Given the description of an element on the screen output the (x, y) to click on. 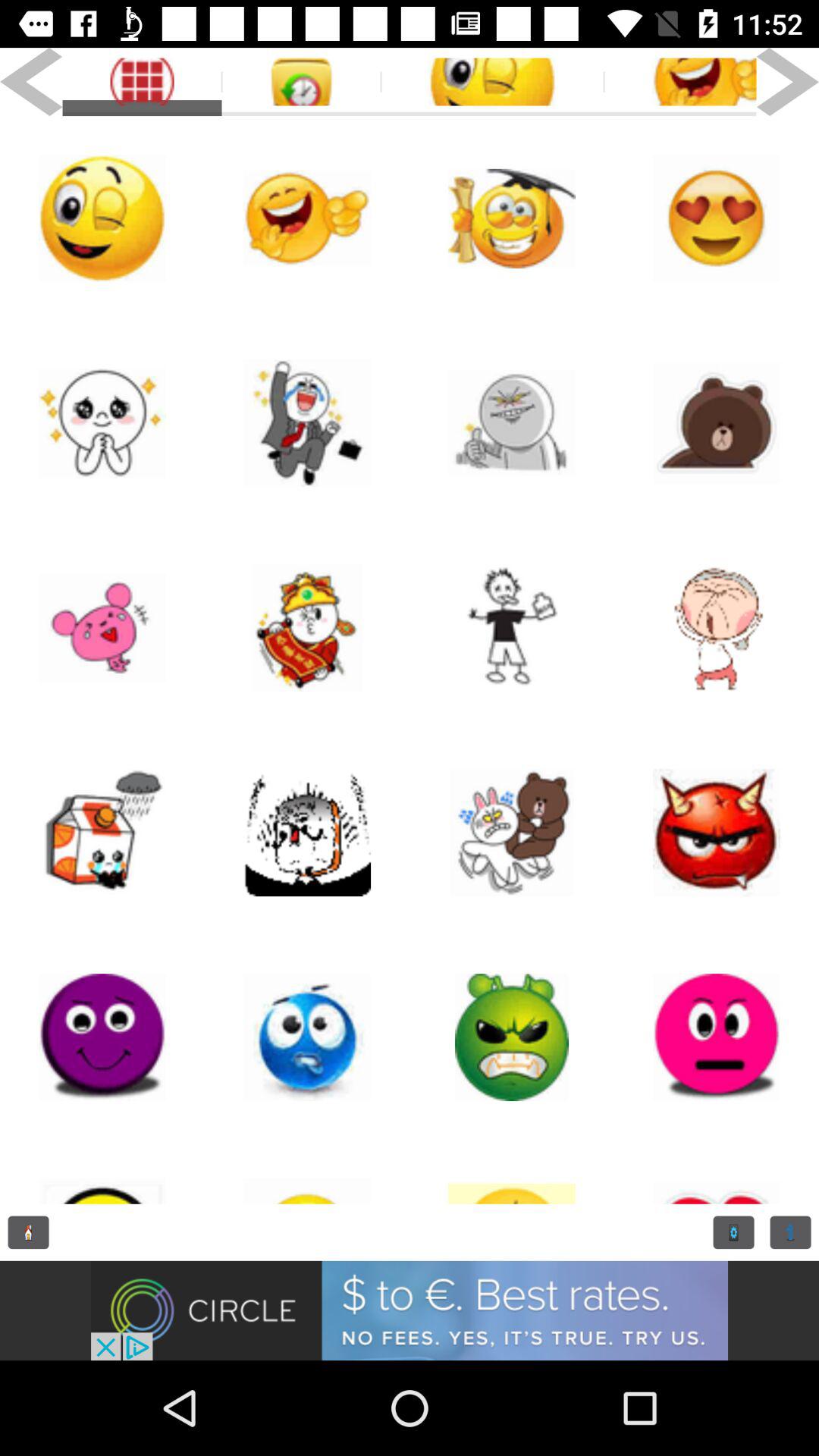
smile page that indicates house (102, 832)
